Given the description of an element on the screen output the (x, y) to click on. 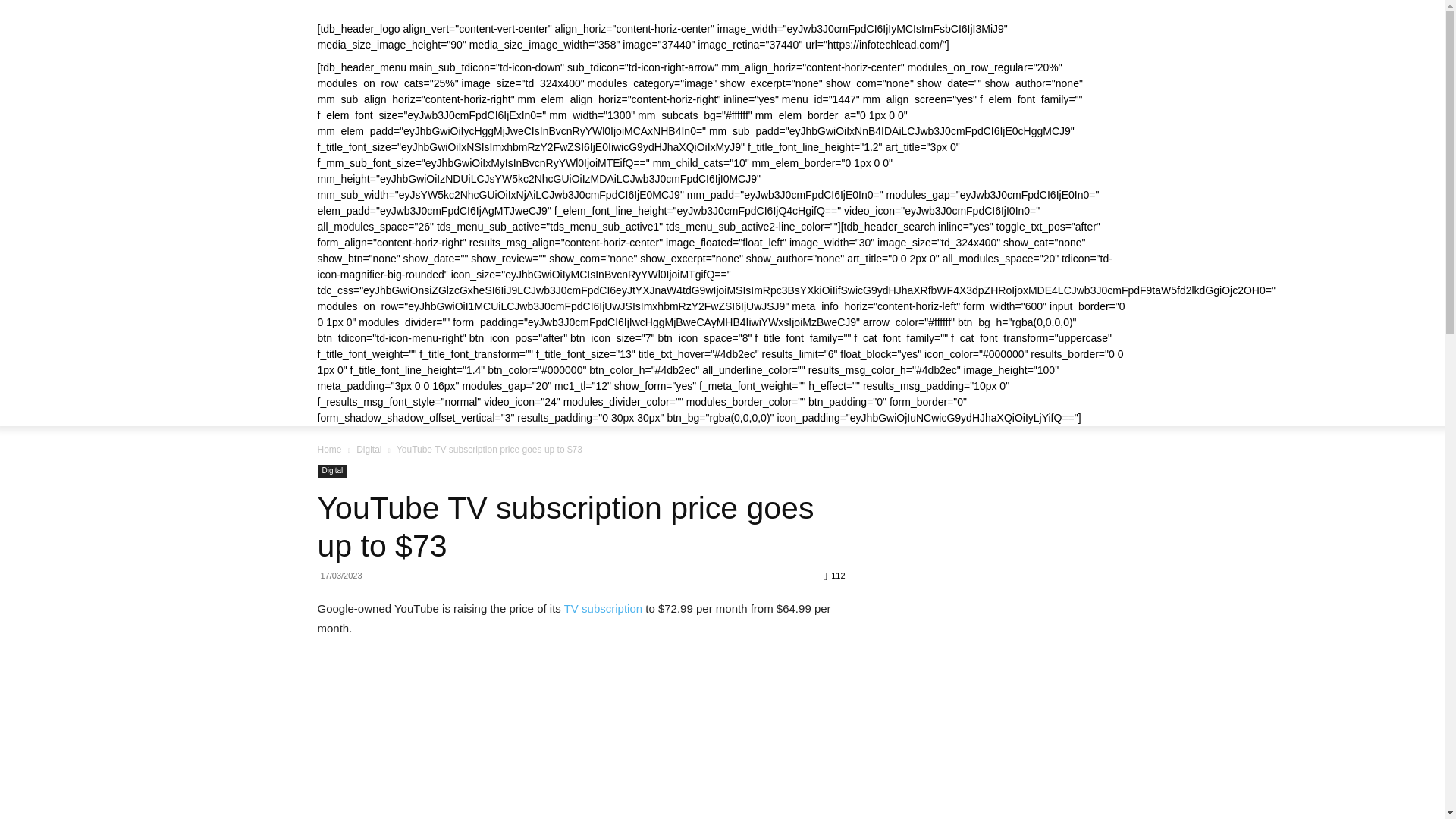
Digital (368, 449)
Advertisement (1003, 559)
TV subscription (603, 608)
Advertisement (1003, 751)
Digital (332, 471)
View all posts in Digital (368, 449)
Home (328, 449)
